Given the description of an element on the screen output the (x, y) to click on. 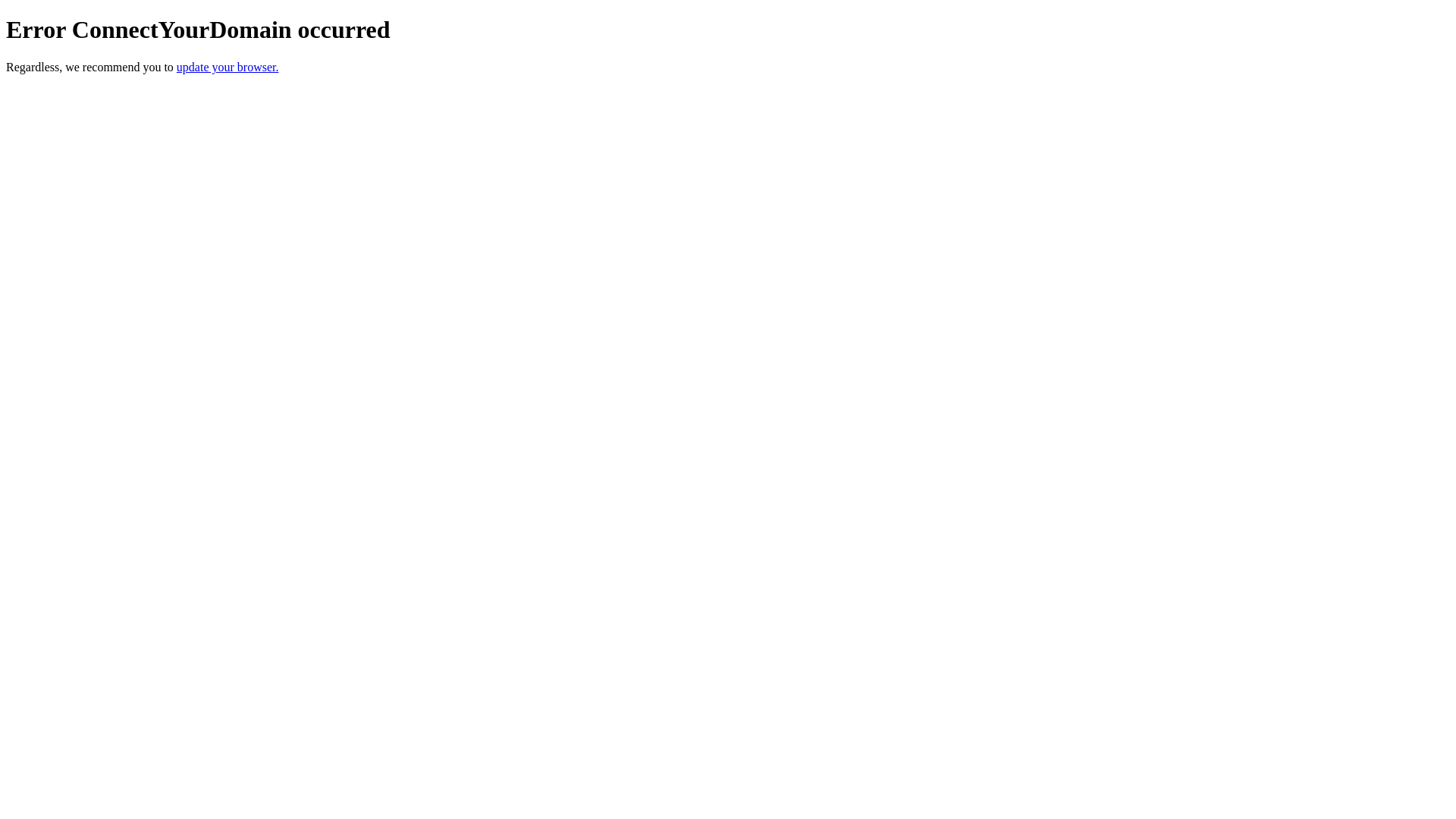
update your browser. Element type: text (227, 66)
